Given the description of an element on the screen output the (x, y) to click on. 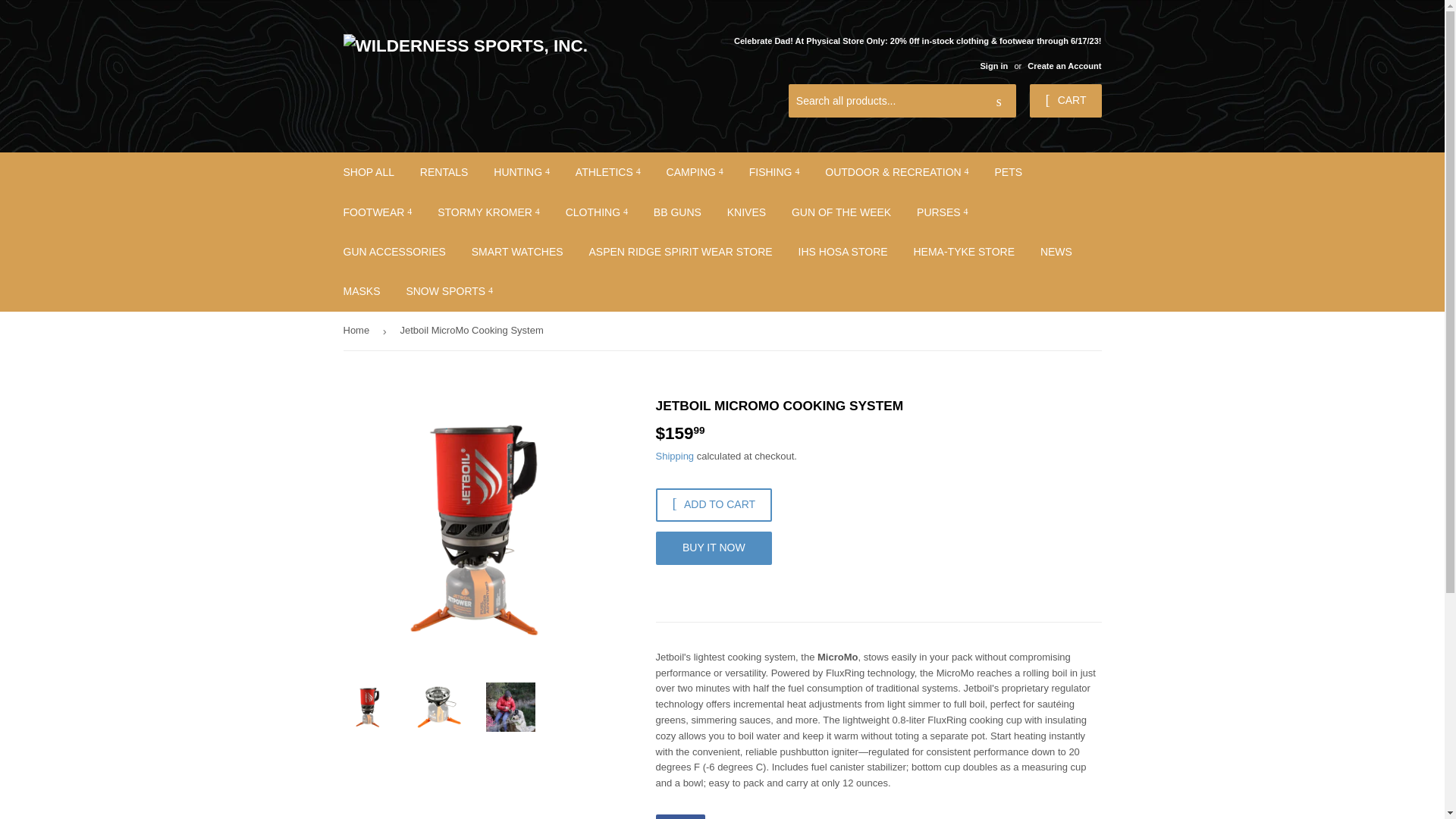
CART (1064, 100)
Create an Account (1063, 65)
Search (998, 101)
Share on Facebook (679, 816)
Sign in (993, 65)
